Given the description of an element on the screen output the (x, y) to click on. 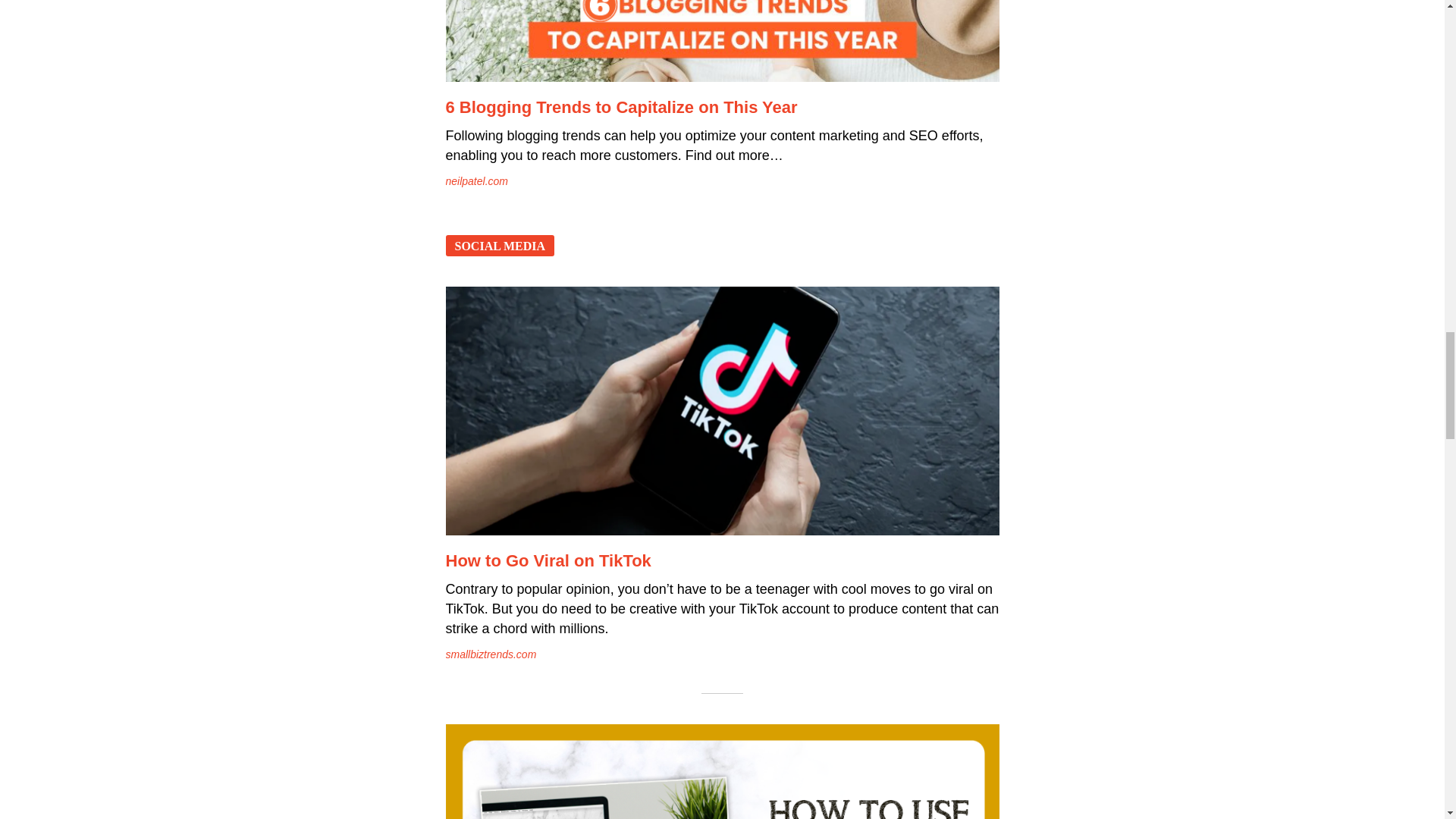
6 Blogging Trends to Capitalize on This Year (721, 40)
6 Blogging Trends to Capitalize on This Year (621, 107)
neilpatel.com (476, 181)
smallbiztrends.com (491, 654)
How to Go Viral on TikTok (547, 560)
